Given the description of an element on the screen output the (x, y) to click on. 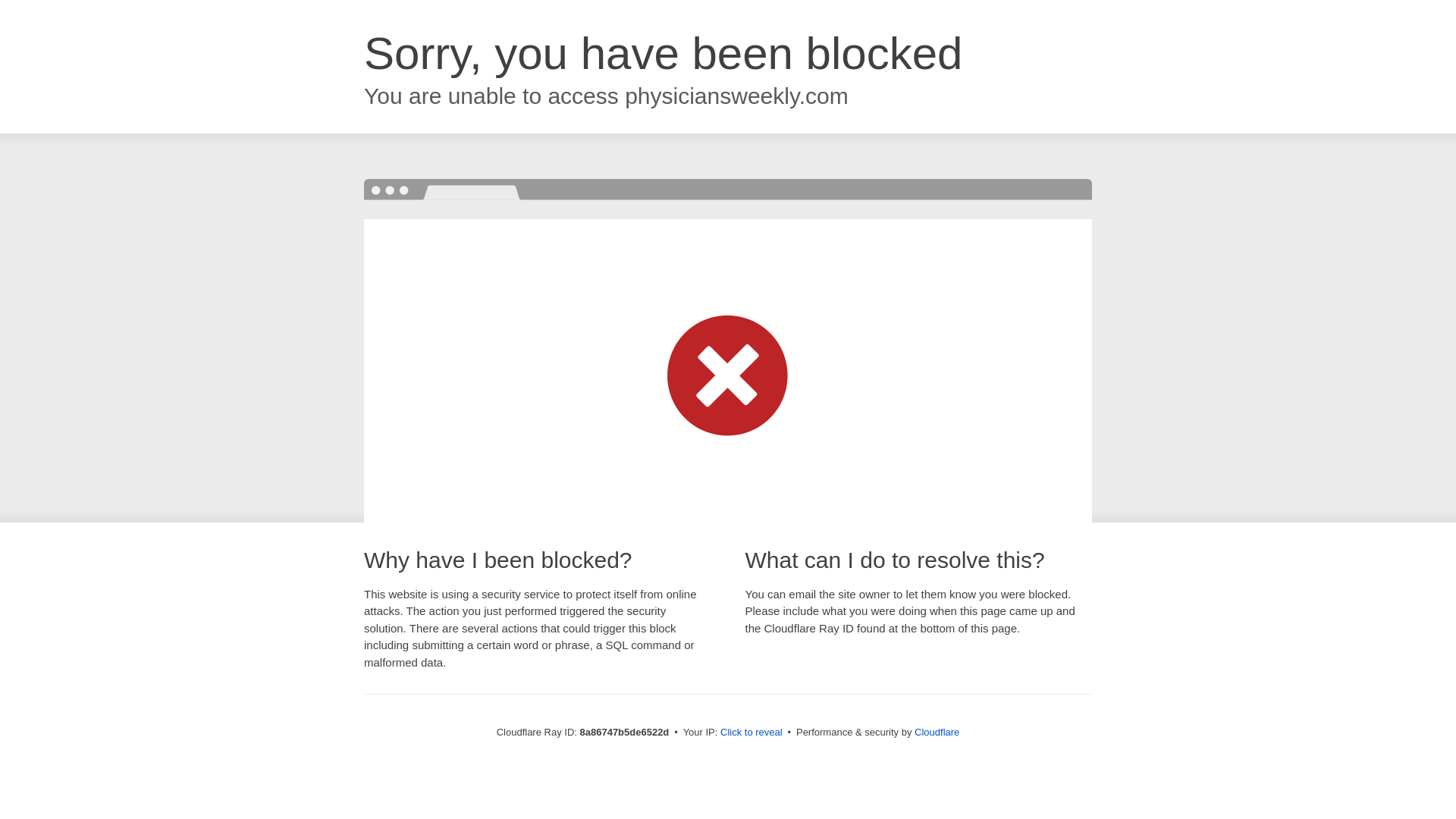
Cloudflare (936, 731)
Click to reveal (751, 732)
